Given the description of an element on the screen output the (x, y) to click on. 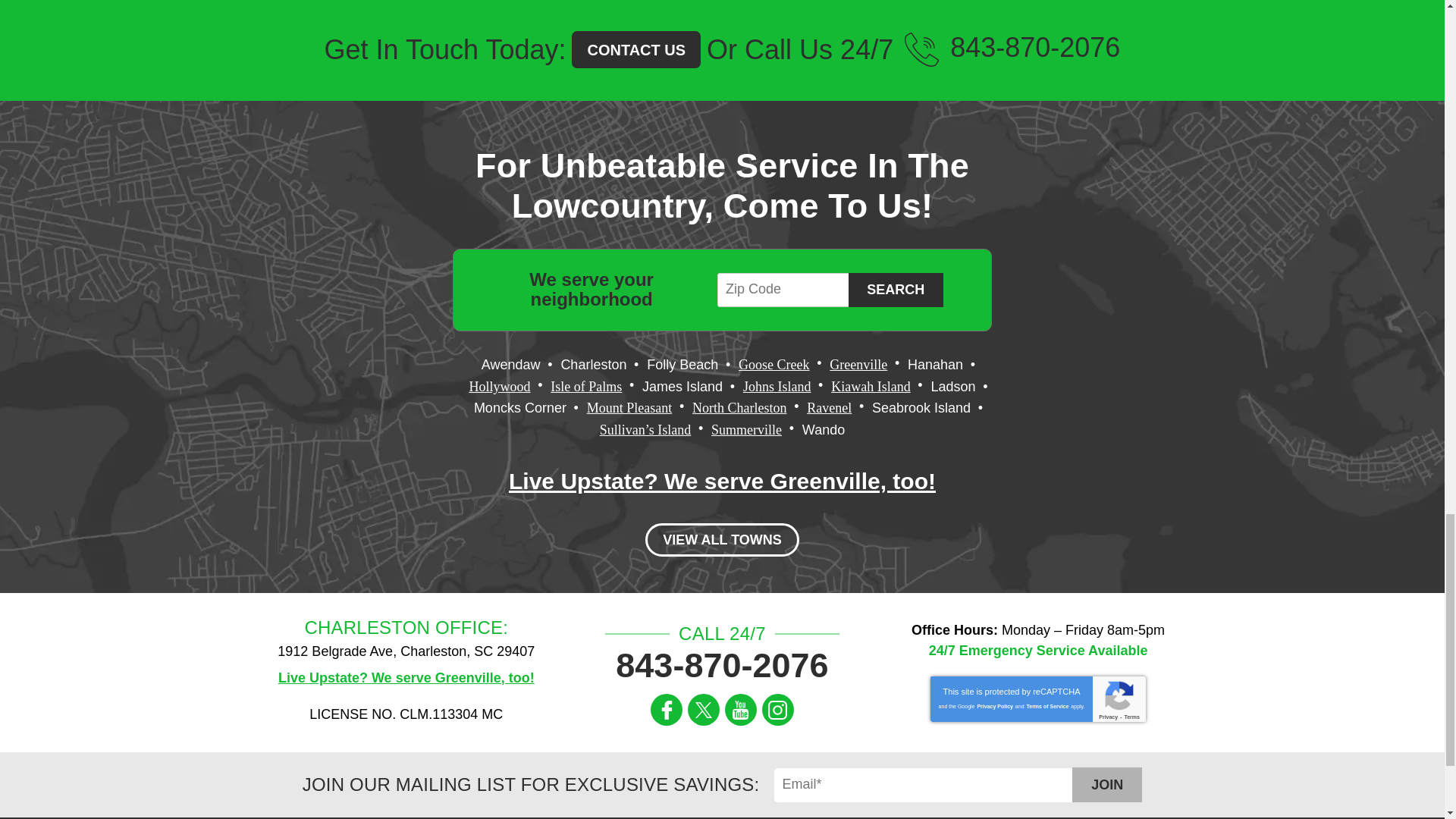
Search (895, 289)
